Given the description of an element on the screen output the (x, y) to click on. 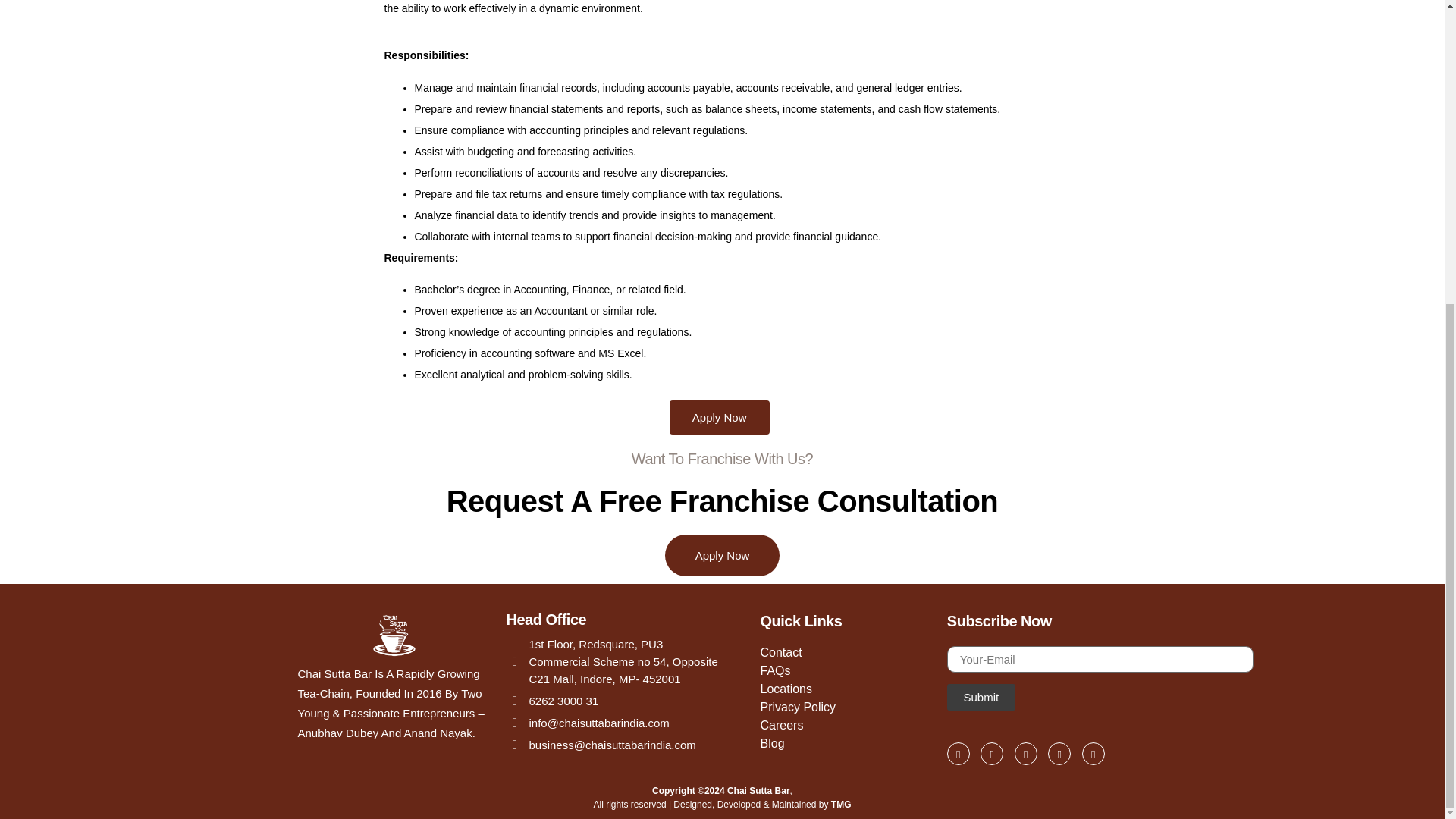
Contact (841, 652)
Submit (980, 696)
6262 3000 31 (553, 701)
Privacy Policy (841, 707)
FAQs (841, 670)
Apply Now (722, 555)
Apply Now (719, 417)
Submit (980, 696)
Blog (841, 743)
